Given the description of an element on the screen output the (x, y) to click on. 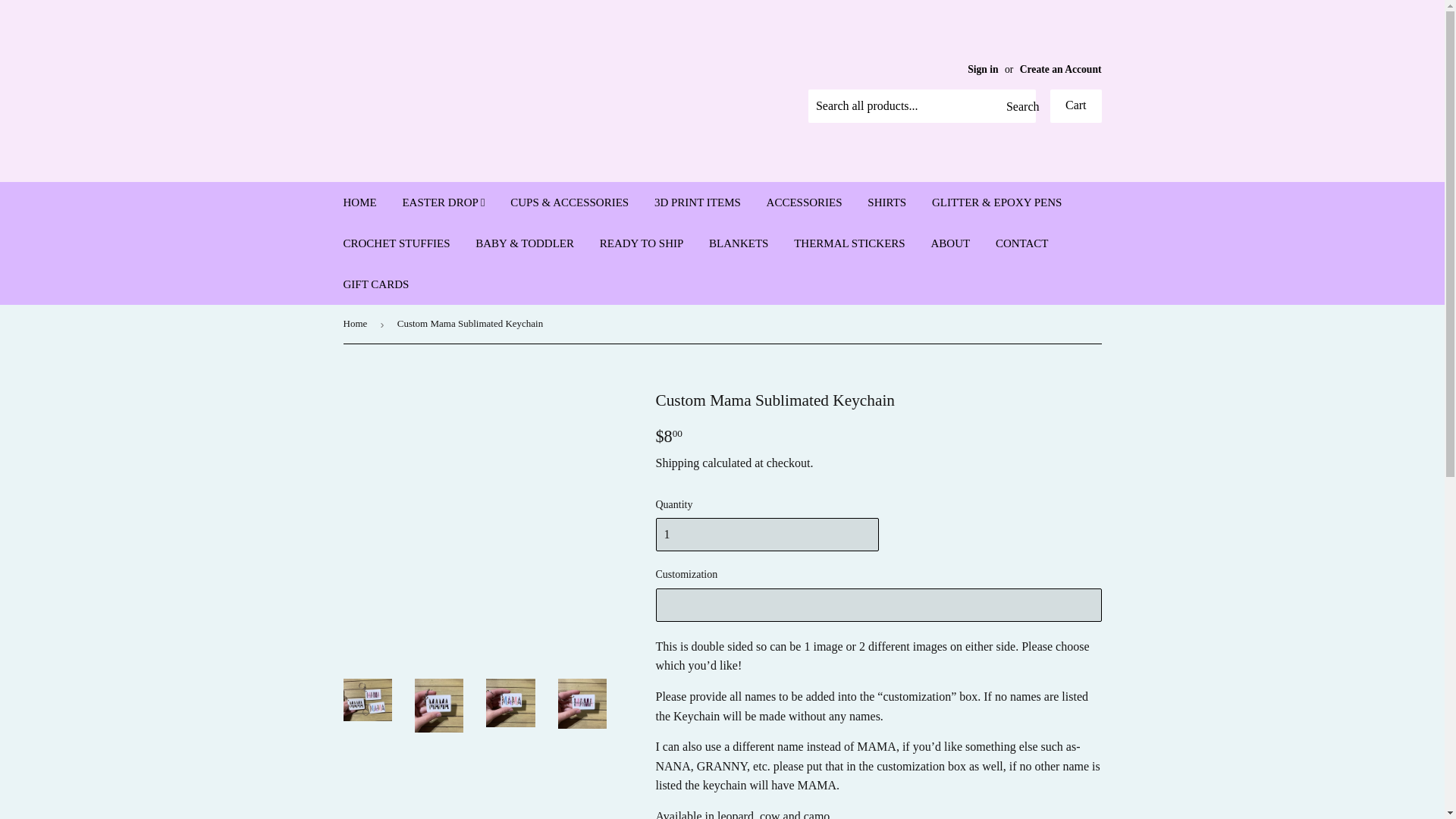
Search (1018, 106)
Sign in (982, 69)
Cart (1075, 105)
Create an Account (1061, 69)
1 (766, 534)
